Given the description of an element on the screen output the (x, y) to click on. 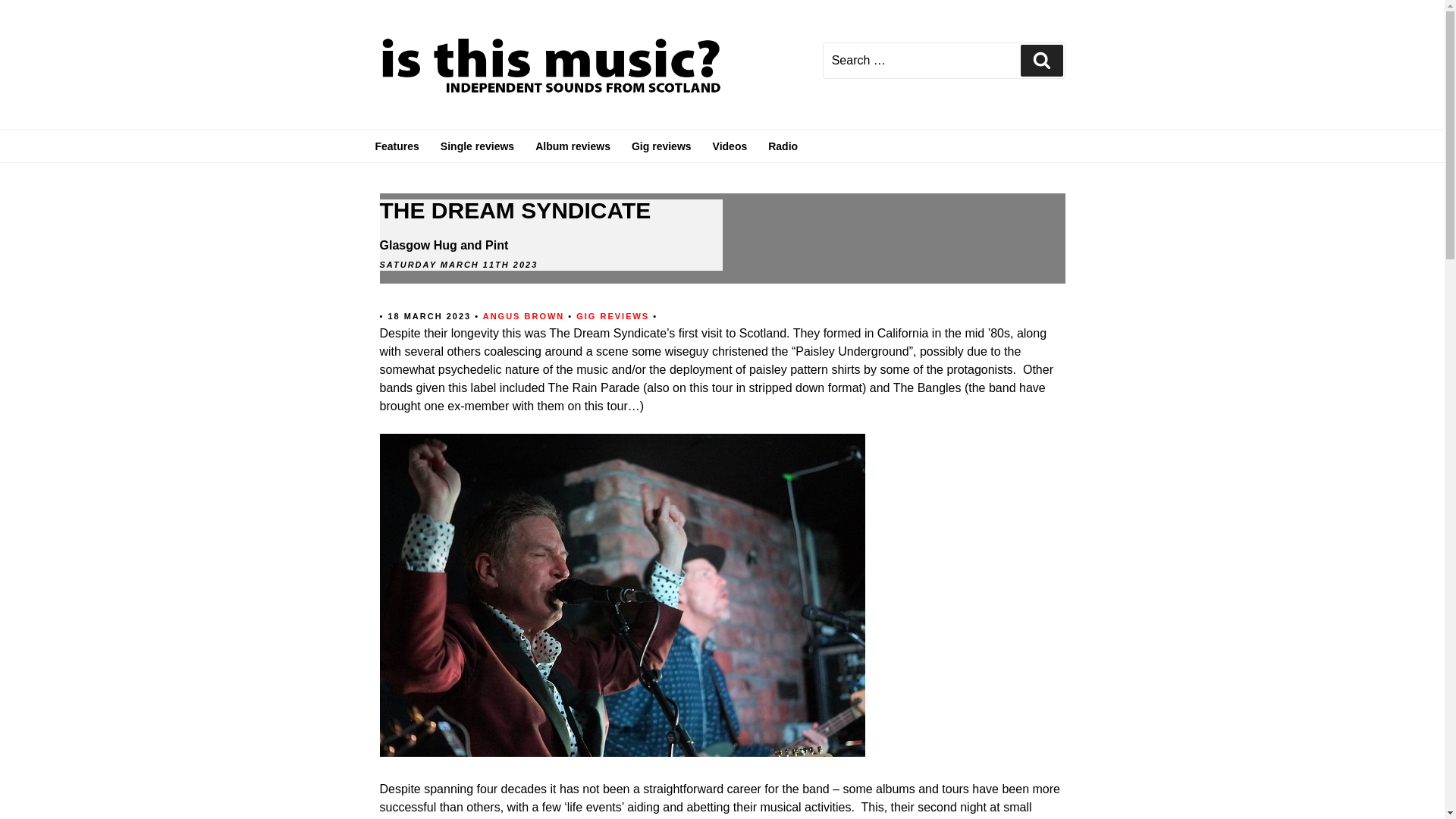
Gig reviews (661, 145)
Videos (729, 145)
GIG REVIEWS (614, 315)
Posts by Angus Brown (523, 315)
Features (396, 145)
Album reviews (572, 145)
Dream Syndicate (621, 752)
Search (1041, 60)
Single reviews (476, 145)
ANGUS BROWN (523, 315)
